Given the description of an element on the screen output the (x, y) to click on. 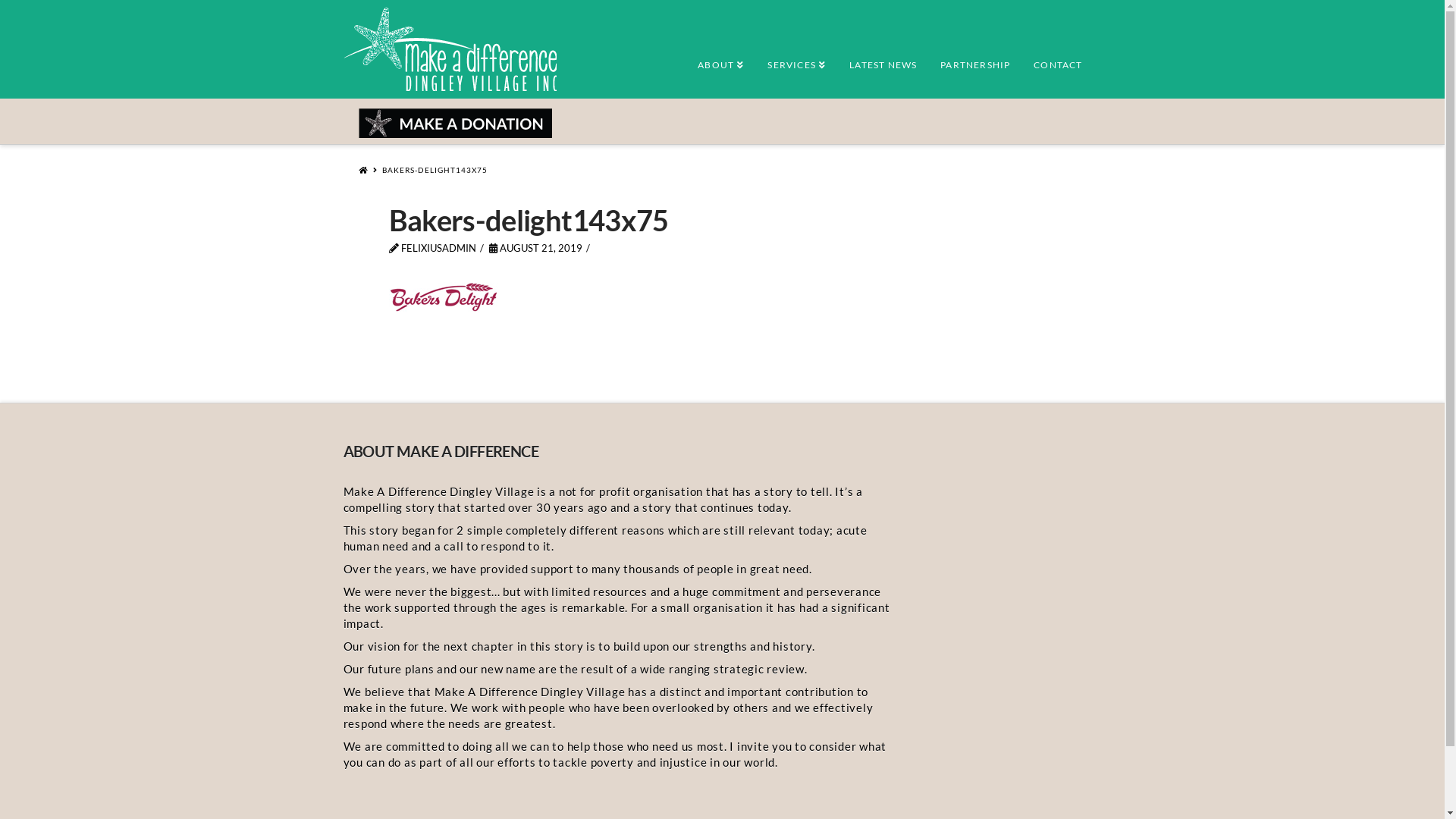
ABOUT Element type: text (720, 56)
PARTNERSHIP Element type: text (974, 56)
CONTACT Element type: text (1057, 56)
SERVICES Element type: text (796, 56)
BAKERS-DELIGHT143X75 Element type: text (434, 168)
LATEST NEWS Element type: text (882, 56)
